Given the description of an element on the screen output the (x, y) to click on. 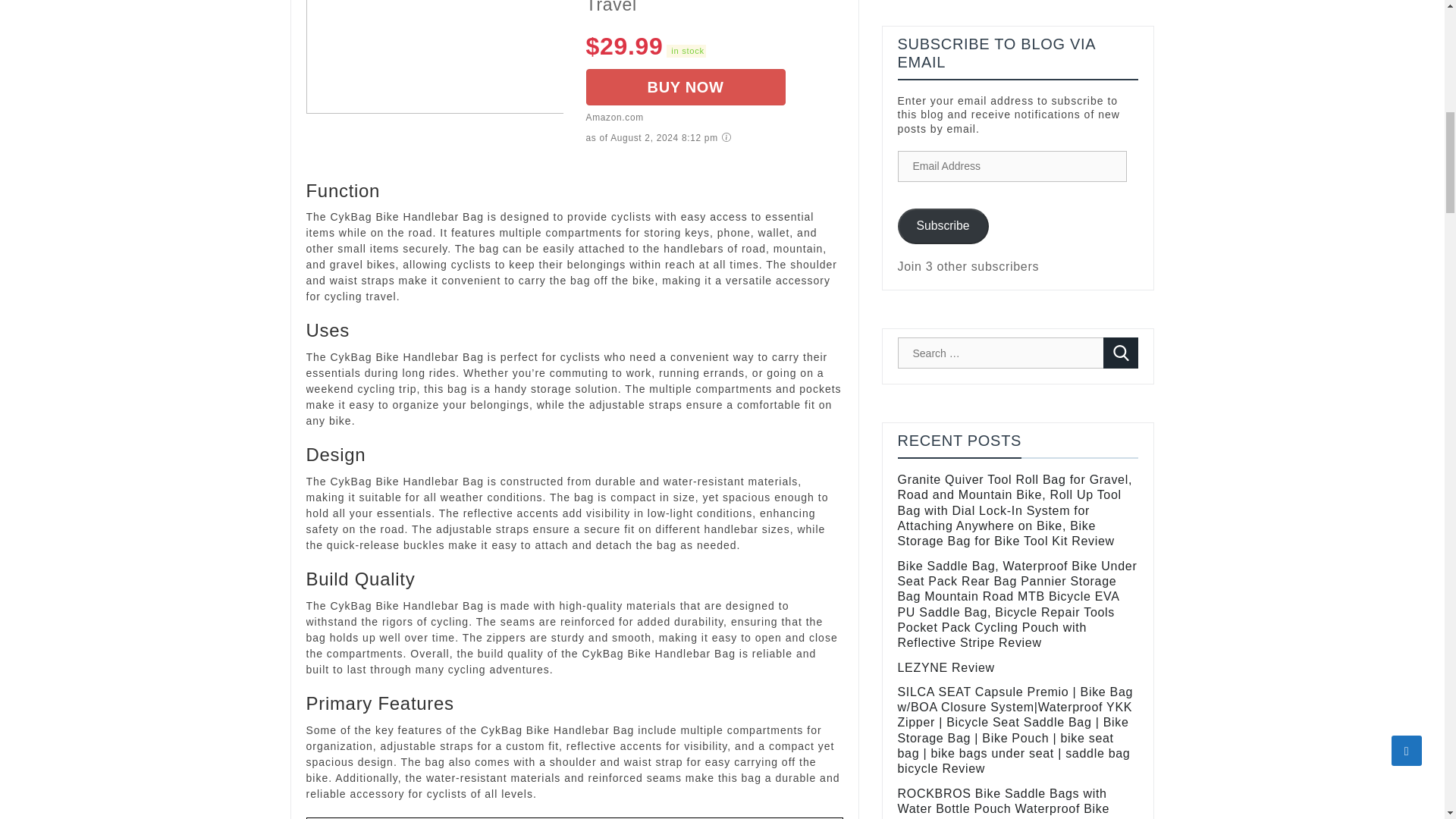
Last updated on August 2, 2024 8:12 pm (686, 50)
BUY NOW (684, 86)
Search (1120, 352)
Search (1120, 352)
